Given the description of an element on the screen output the (x, y) to click on. 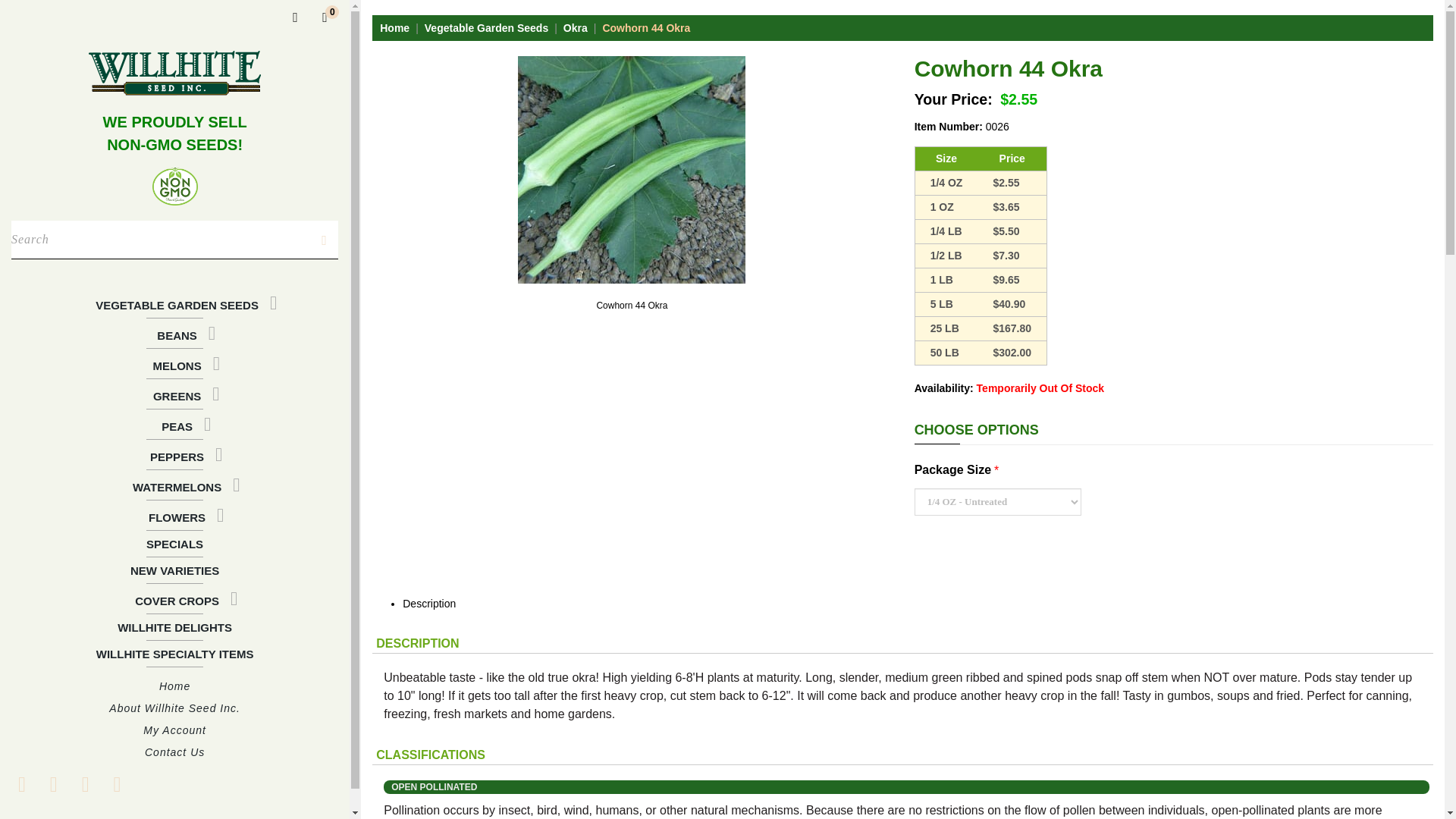
home (174, 72)
Cowhorn 44 Okra   (631, 169)
0 (324, 17)
Follow Us on Pinterest (85, 784)
VEGETABLE GARDEN SEEDS (174, 303)
Follow Us on Twitter (53, 784)
Willhite Seed (174, 72)
Follow Us on Instagram (117, 784)
Cowhorn 44 Okra   (631, 305)
Like Us on Facebook (21, 784)
